Given the description of an element on the screen output the (x, y) to click on. 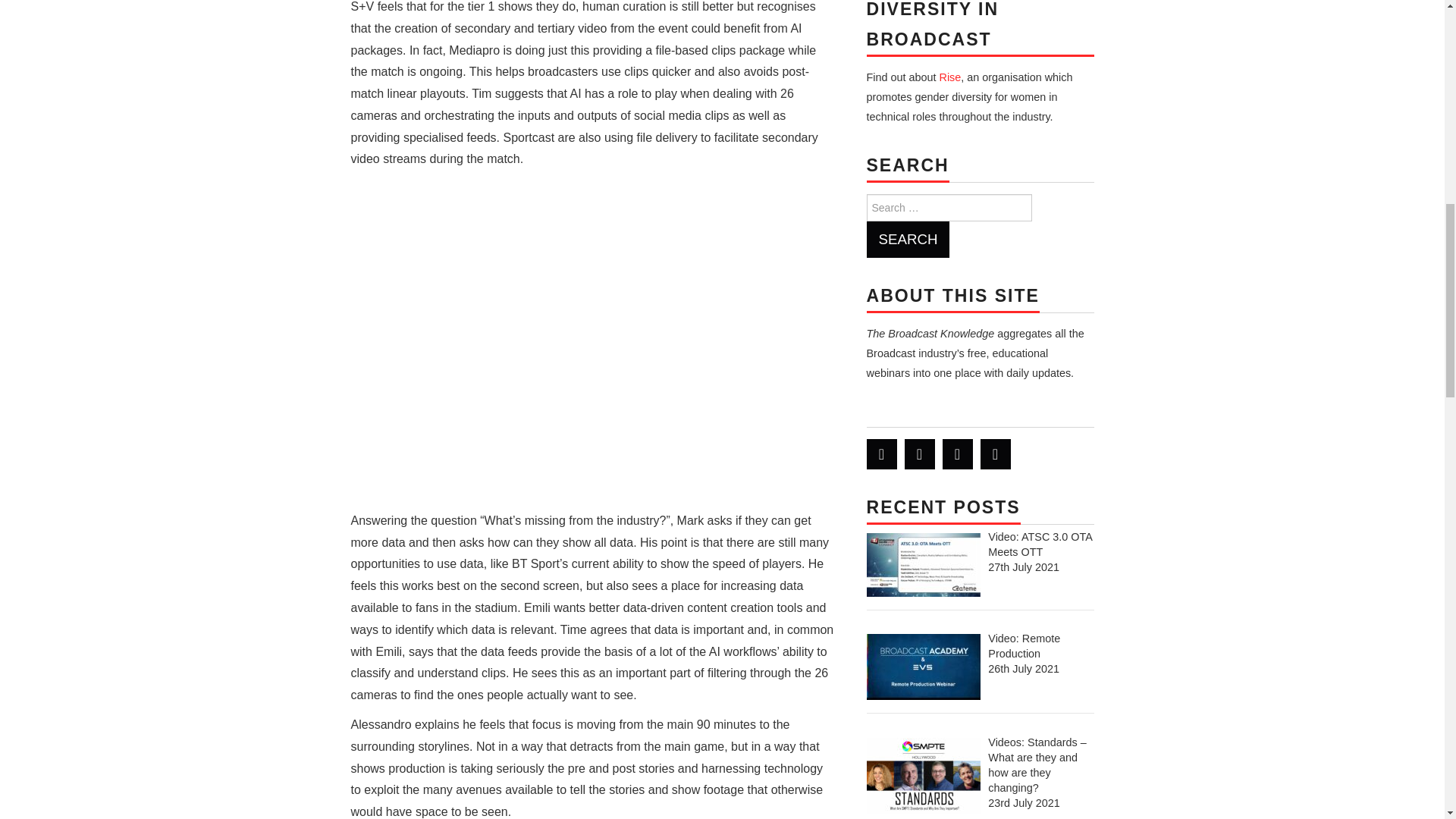
Facebook (919, 453)
YouTube player (592, 344)
Twitter (881, 453)
Search for: (948, 207)
Search (907, 239)
Search (907, 239)
